Given the description of an element on the screen output the (x, y) to click on. 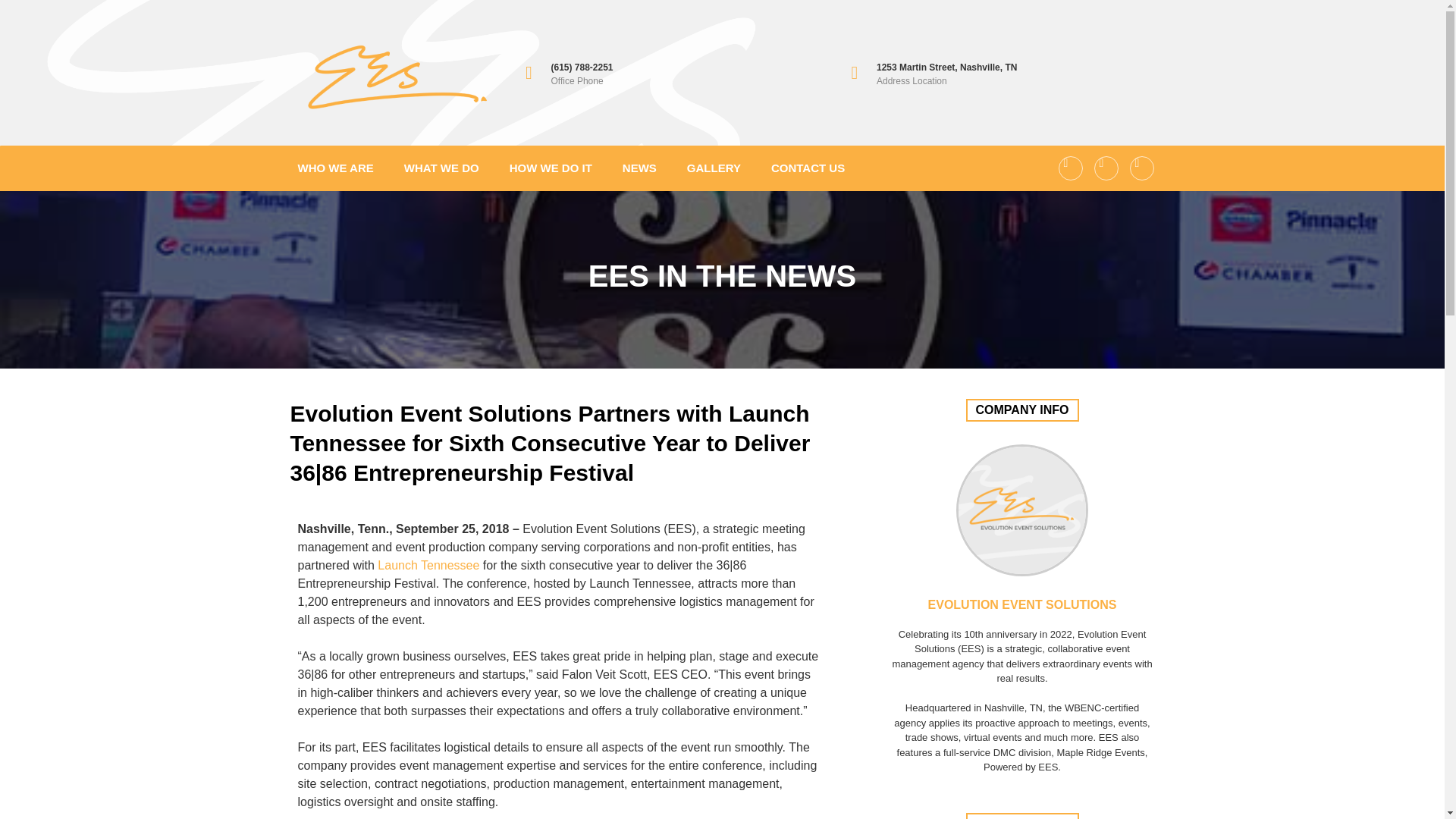
WHO WE ARE (334, 168)
GALLERY (713, 168)
Launch Tennessee (428, 564)
NEWS (638, 168)
WHAT WE DO (441, 168)
CONTACT US (806, 168)
HOW WE DO IT (550, 168)
